Given the description of an element on the screen output the (x, y) to click on. 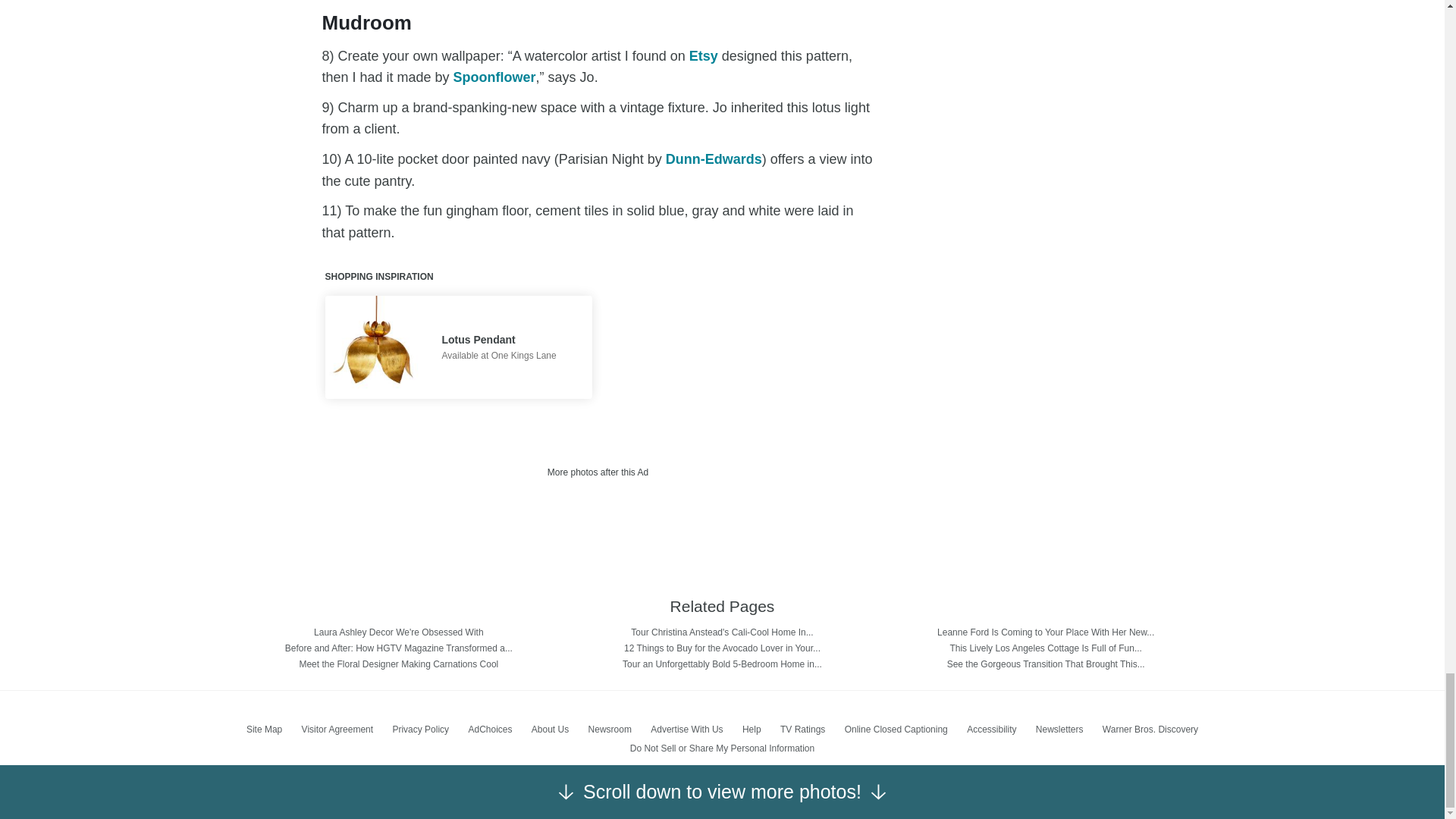
3rd party ad content (597, 519)
Lotus Pendant (498, 339)
Lotus Pendant (376, 346)
